Given the description of an element on the screen output the (x, y) to click on. 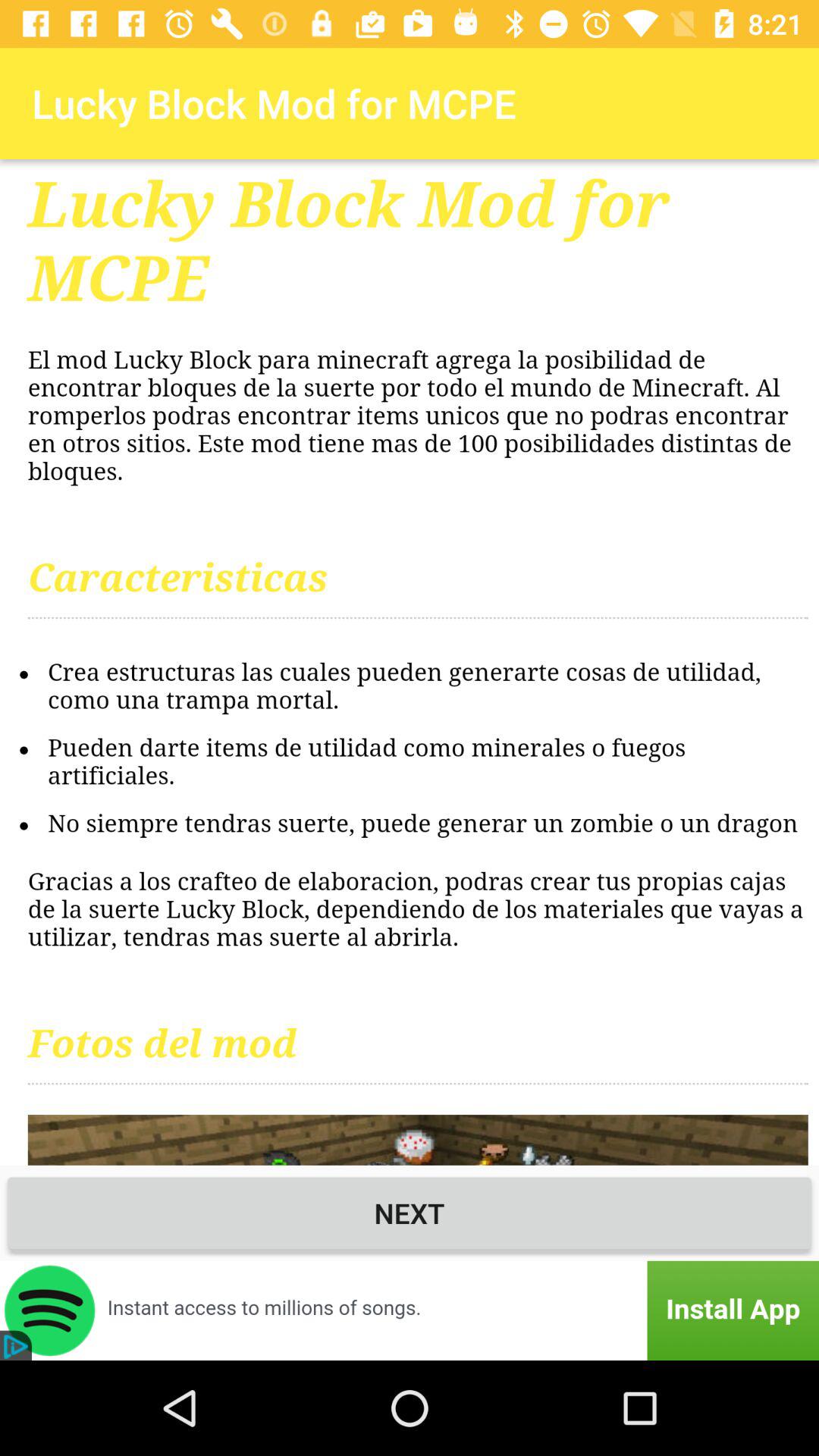
open advertisement (409, 1310)
